Given the description of an element on the screen output the (x, y) to click on. 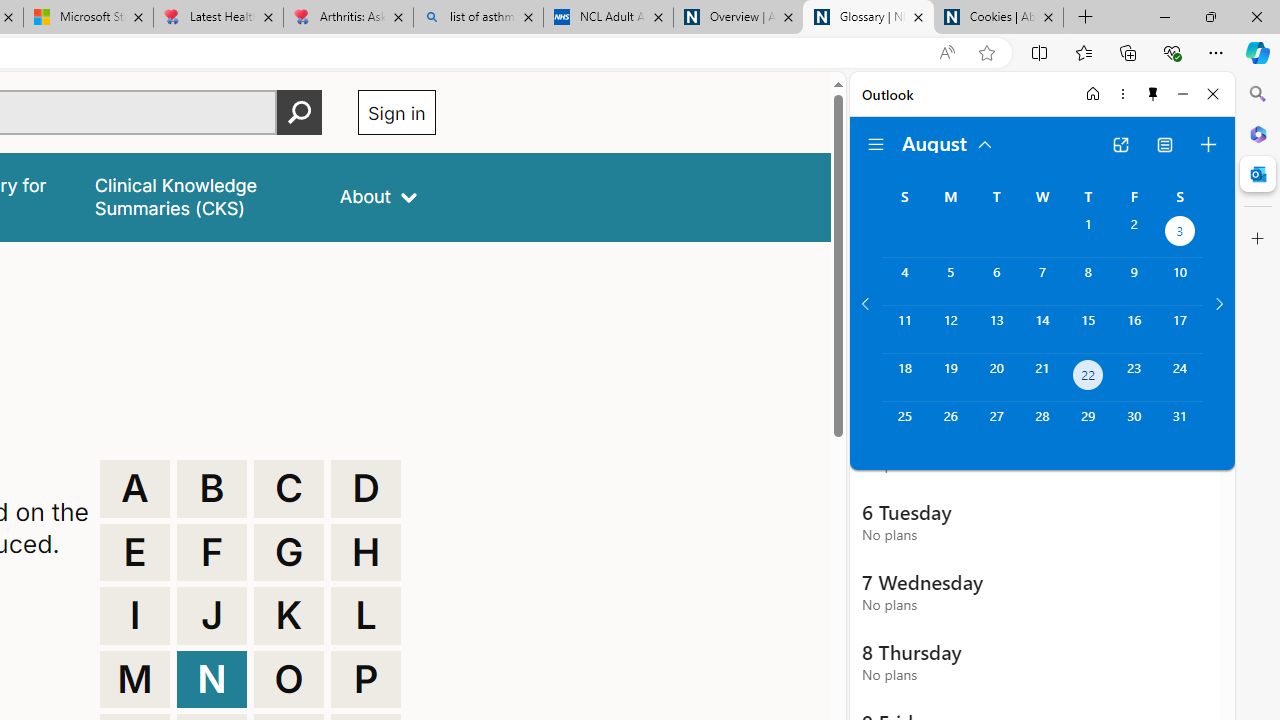
K (289, 615)
Perform search (299, 112)
H (365, 551)
list of asthma inhalers uk - Search (477, 17)
Settings and more (Alt+F) (1215, 52)
Sunday, August 11, 2024.  (904, 329)
I (134, 615)
Tuesday, August 27, 2024.  (996, 425)
Monday, August 19, 2024.  (950, 377)
Minimize (1182, 93)
A (134, 488)
Tuesday, August 20, 2024.  (996, 377)
New Tab (1085, 17)
Close tab (1048, 16)
J (212, 615)
